Given the description of an element on the screen output the (x, y) to click on. 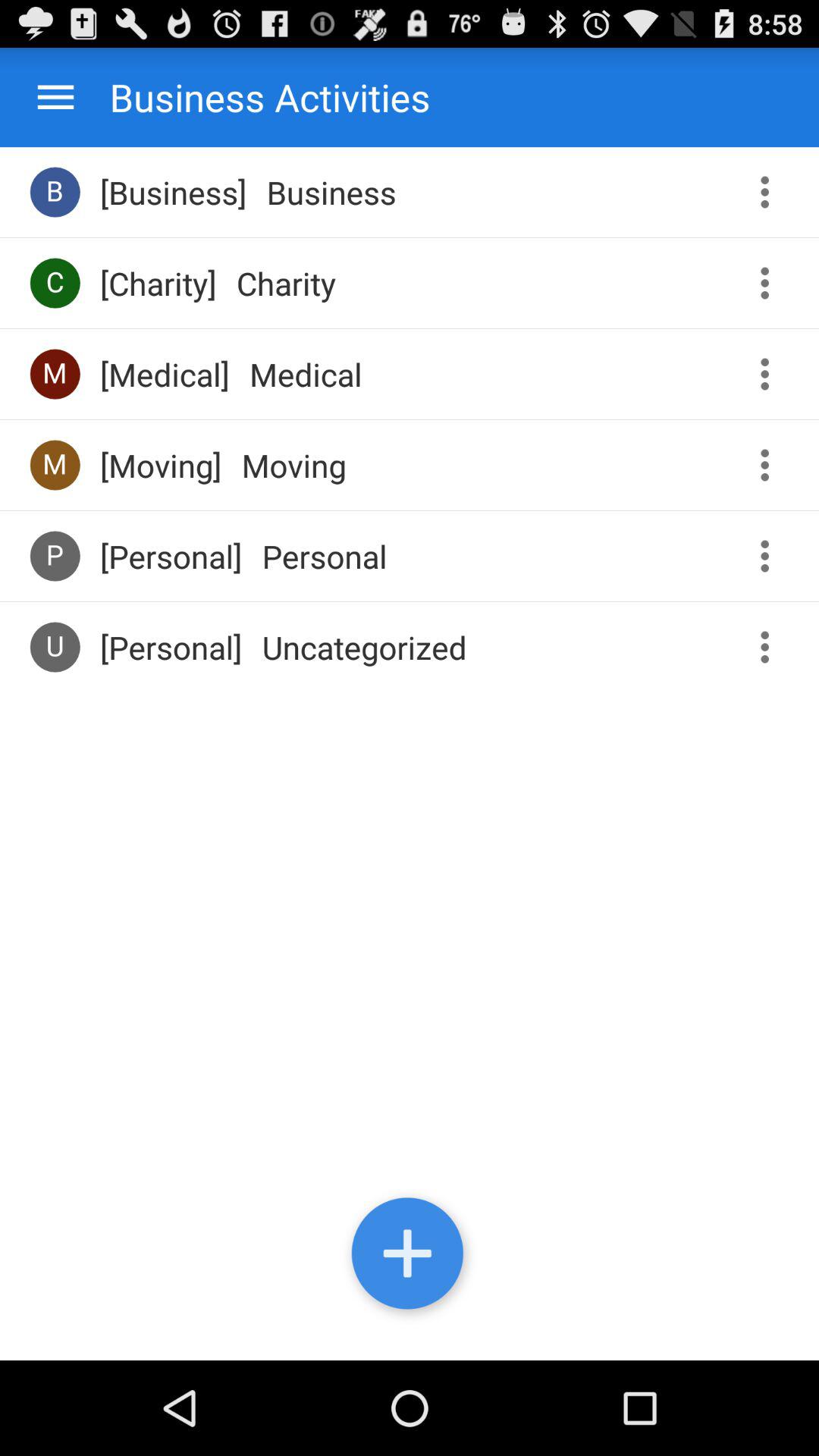
tap uncategorized icon (364, 646)
